Given the description of an element on the screen output the (x, y) to click on. 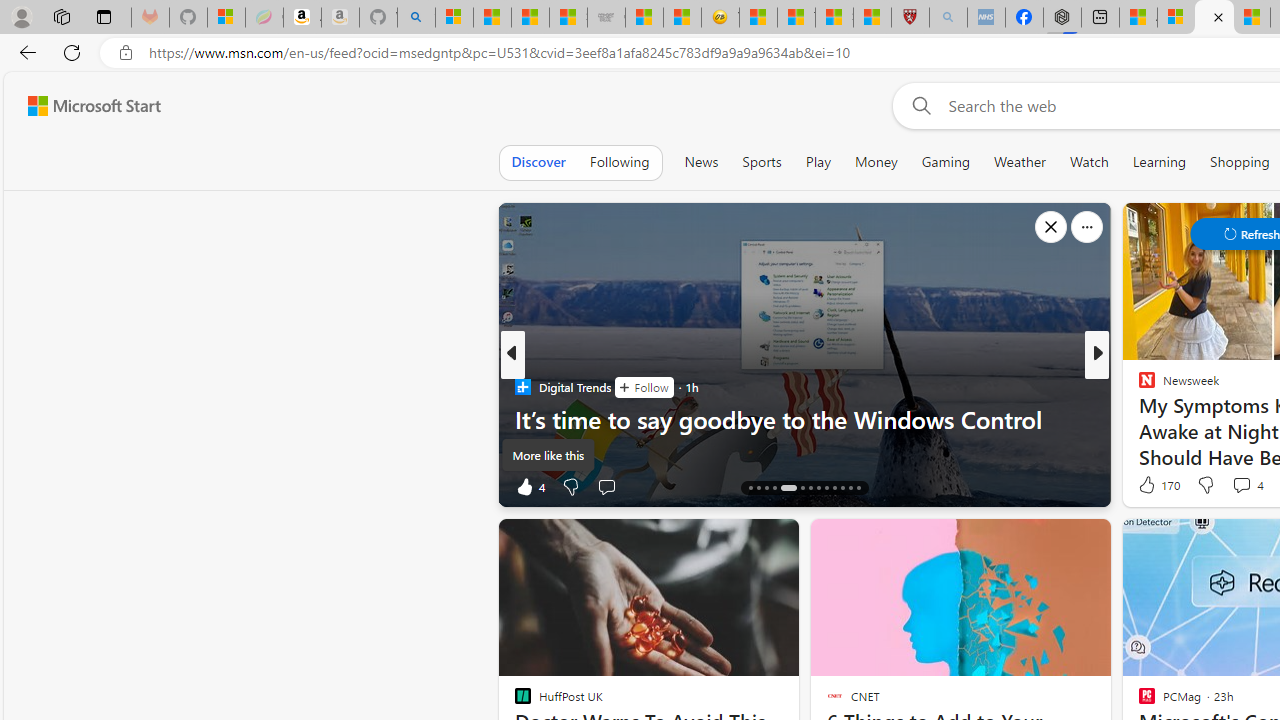
AutomationID: tab-14 (750, 487)
170 Like (1157, 484)
236 Like (1151, 486)
720 Like (1151, 486)
